Given the description of an element on the screen output the (x, y) to click on. 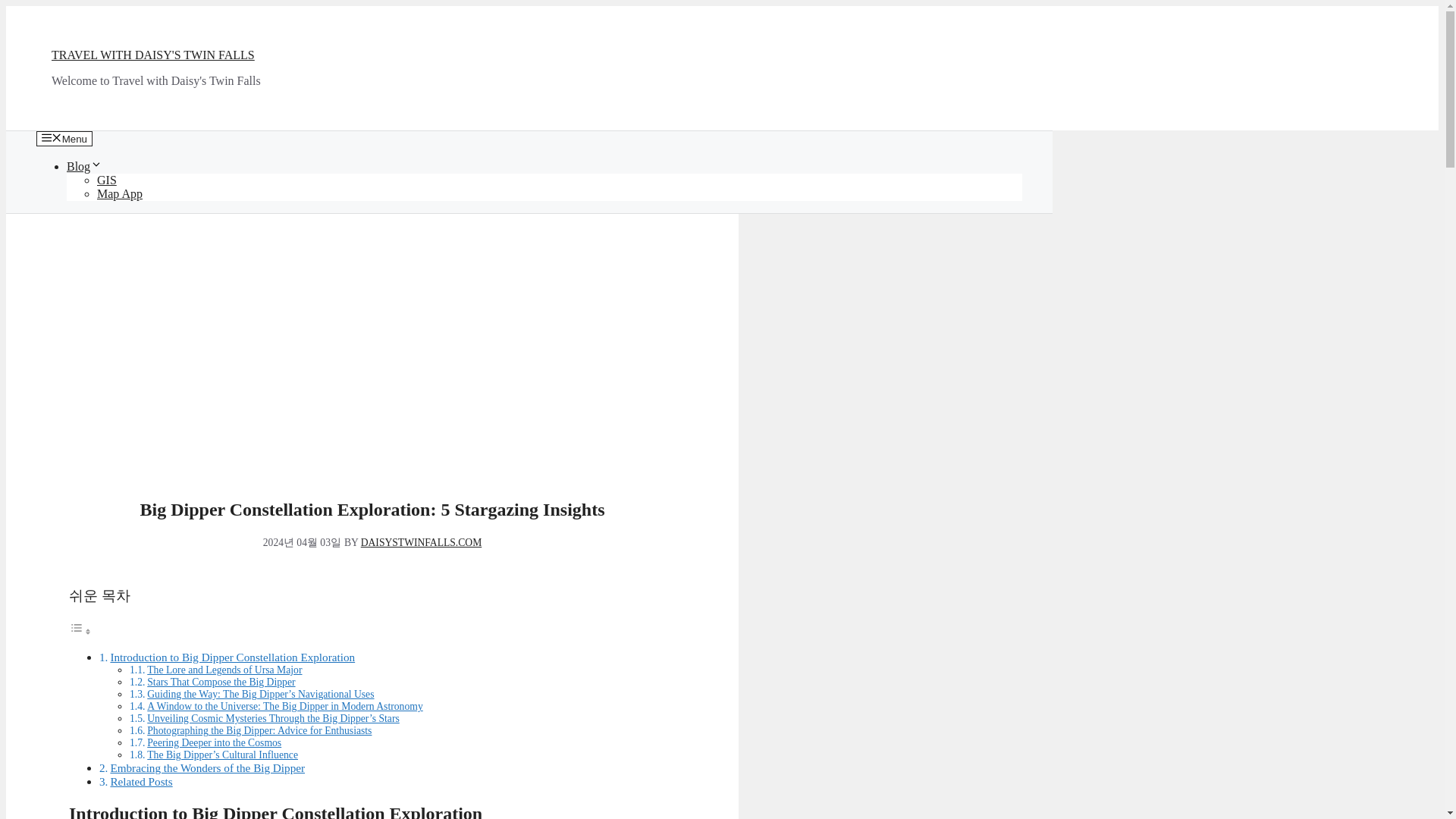
Related Posts (140, 780)
Peering Deeper into the Cosmos (214, 742)
The Lore and Legends of Ursa Major (224, 669)
DAISYSTWINFALLS.COM (421, 542)
Stars That Compose the Big Dipper (221, 681)
Stars That Compose the Big Dipper (221, 681)
Blog (83, 165)
Map App (119, 193)
Introduction to Big Dipper Constellation Exploration (232, 656)
The Lore and Legends of Ursa Major (224, 669)
A Window to the Universe: The Big Dipper in Modern Astronomy (285, 706)
Embracing the Wonders of the Big Dipper (207, 767)
View all posts by daisystwinfalls.com (421, 542)
